Given the description of an element on the screen output the (x, y) to click on. 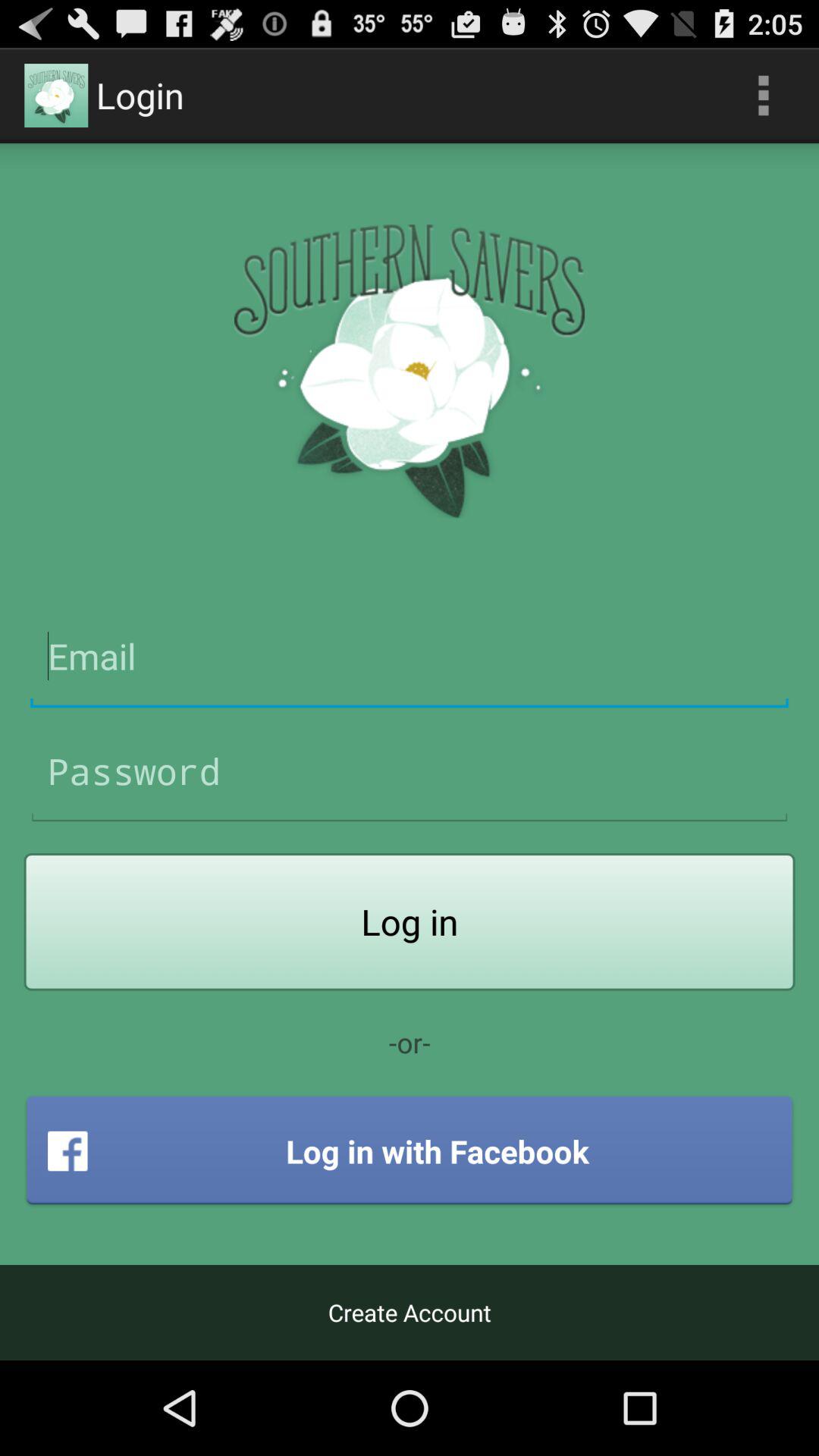
tap the item at the top right corner (763, 95)
